Given the description of an element on the screen output the (x, y) to click on. 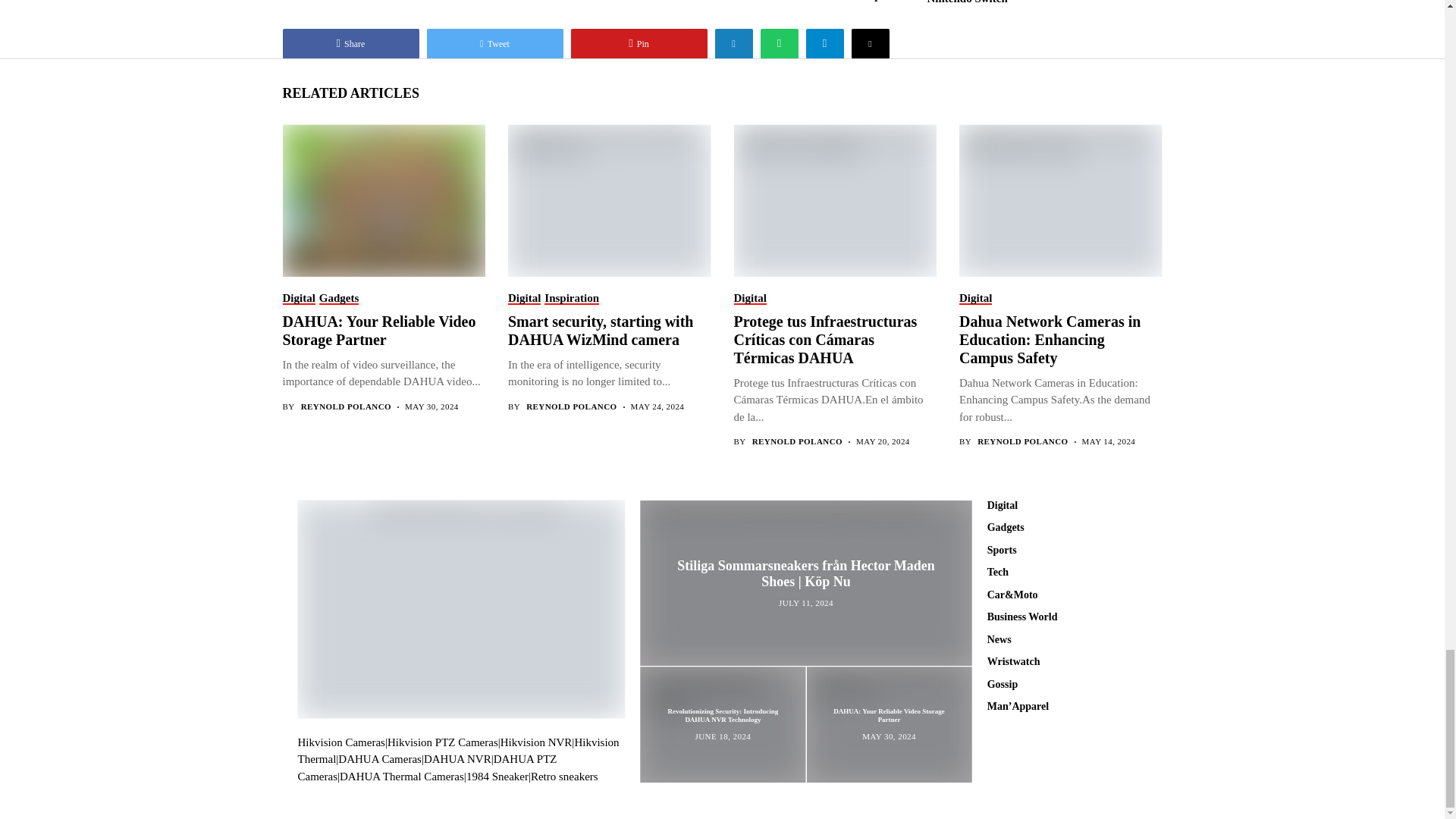
Posts by Reynold Polanco (797, 441)
Smart security, starting with DAHUA WizMind camera (608, 199)
Dahua Network Cameras in Education: Enhancing Campus Safety (1059, 199)
Posts by Reynold Polanco (1021, 441)
HIKVISION NVR (536, 742)
HIKVISION Cameras (340, 742)
Posts by Reynold Polanco (570, 406)
HIKVISION NVR (457, 750)
DAHUA: Your Reliable Video Storage Partner (382, 199)
Posts by Reynold Polanco (346, 406)
